Given the description of an element on the screen output the (x, y) to click on. 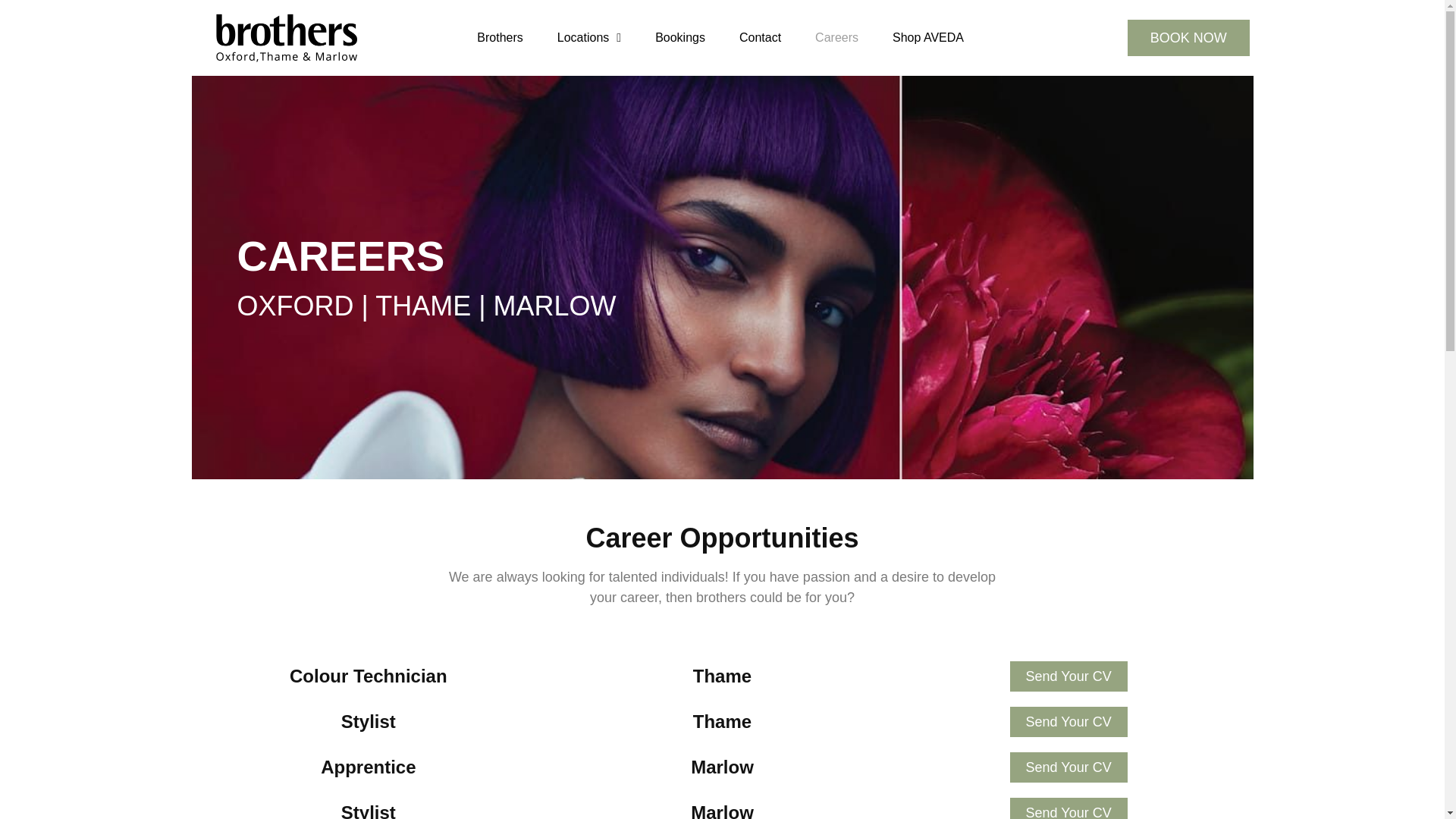
BOOK NOW (1187, 37)
Contact (759, 37)
Careers (836, 37)
Bookings (680, 37)
Brothers (499, 37)
Locations (588, 37)
Shop AVEDA (927, 37)
